Given the description of an element on the screen output the (x, y) to click on. 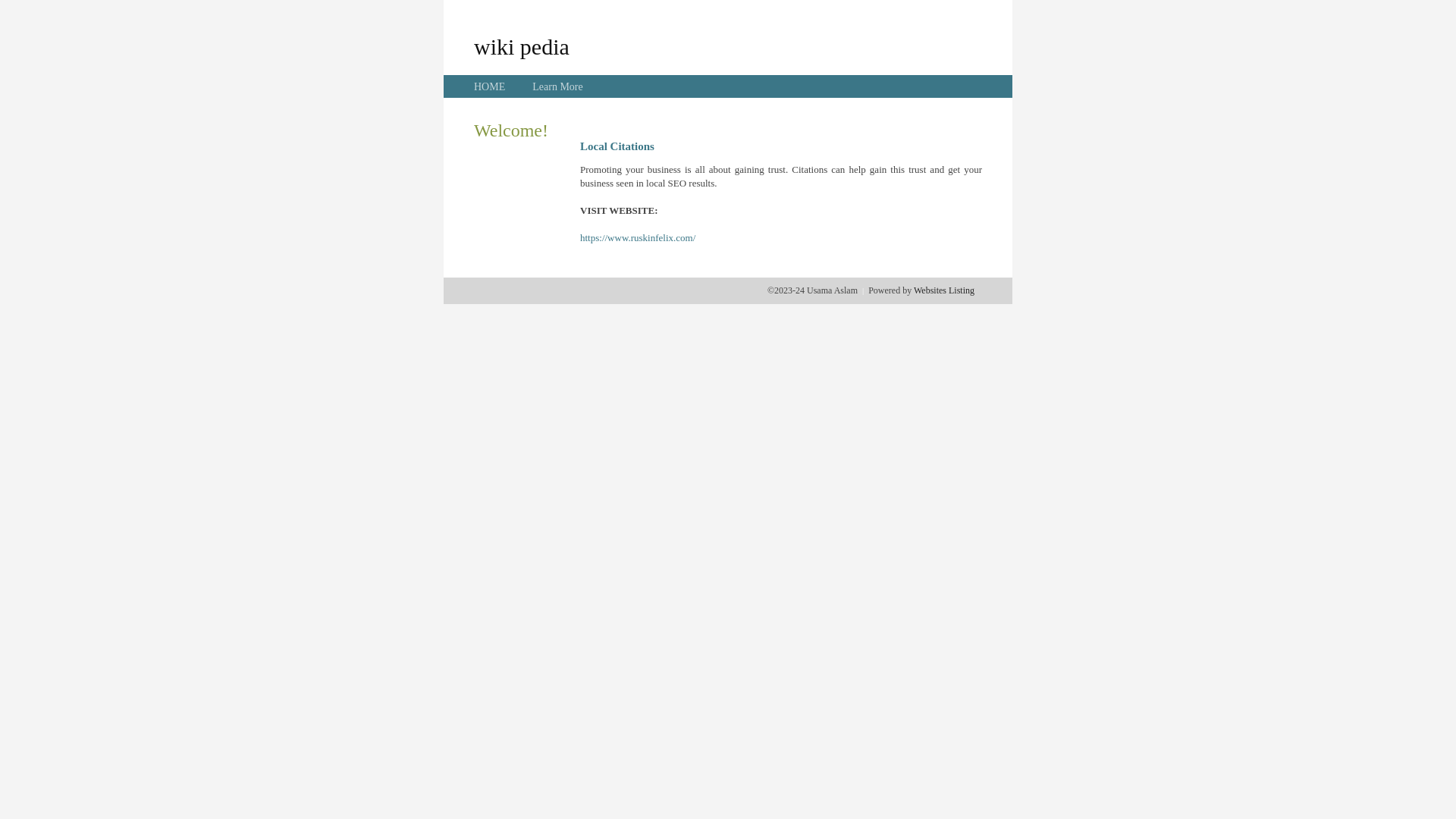
https://www.ruskinfelix.com/ Element type: text (637, 237)
Learn More Element type: text (557, 86)
wiki pedia Element type: text (521, 46)
HOME Element type: text (489, 86)
Websites Listing Element type: text (943, 290)
